Given the description of an element on the screen output the (x, y) to click on. 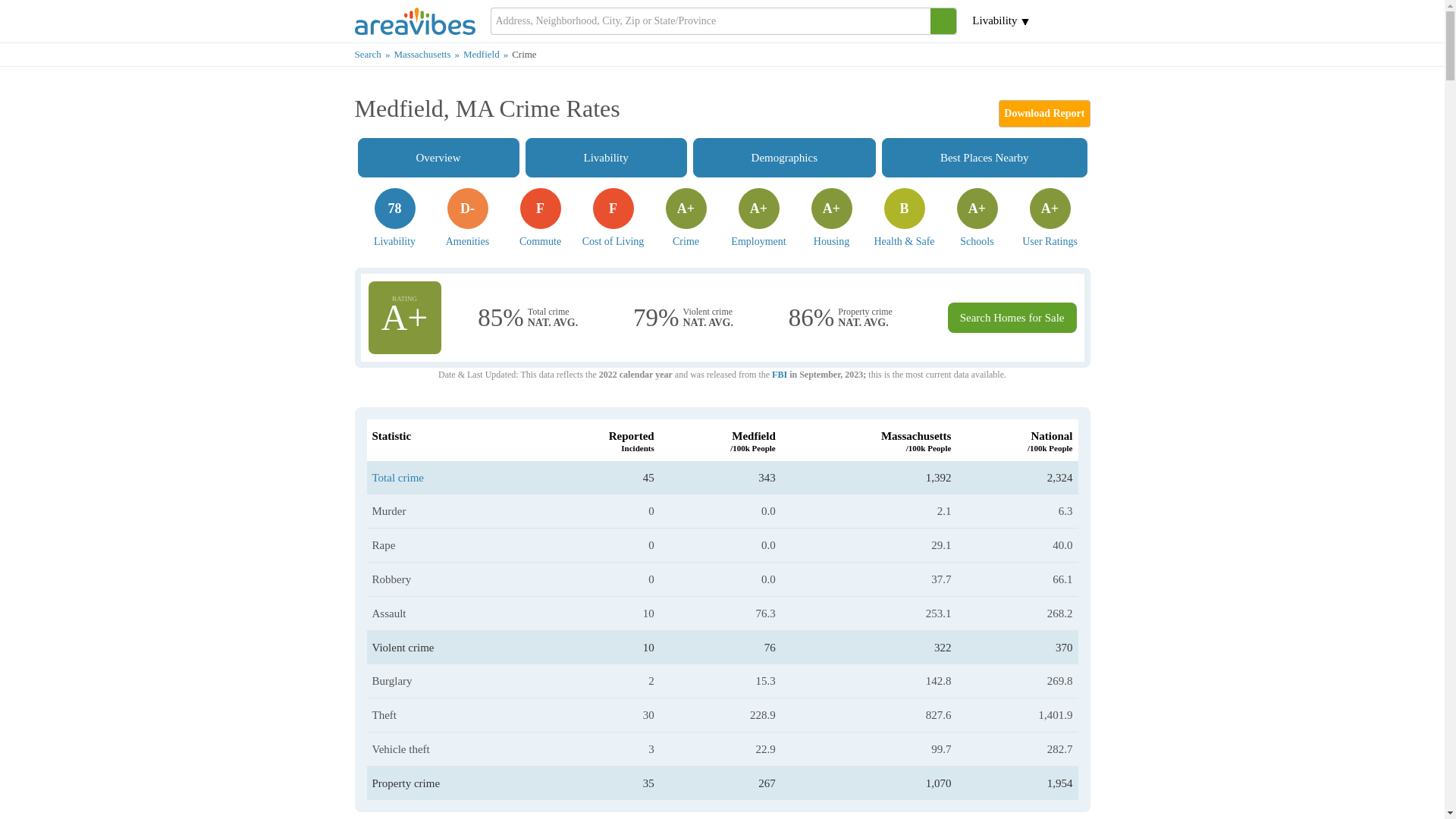
Search (374, 53)
Medfield (487, 53)
Download Report (539, 217)
Livability (1043, 113)
Demographics (466, 217)
Best Places Nearby (606, 157)
Massachusetts (394, 217)
Overview (784, 157)
